Given the description of an element on the screen output the (x, y) to click on. 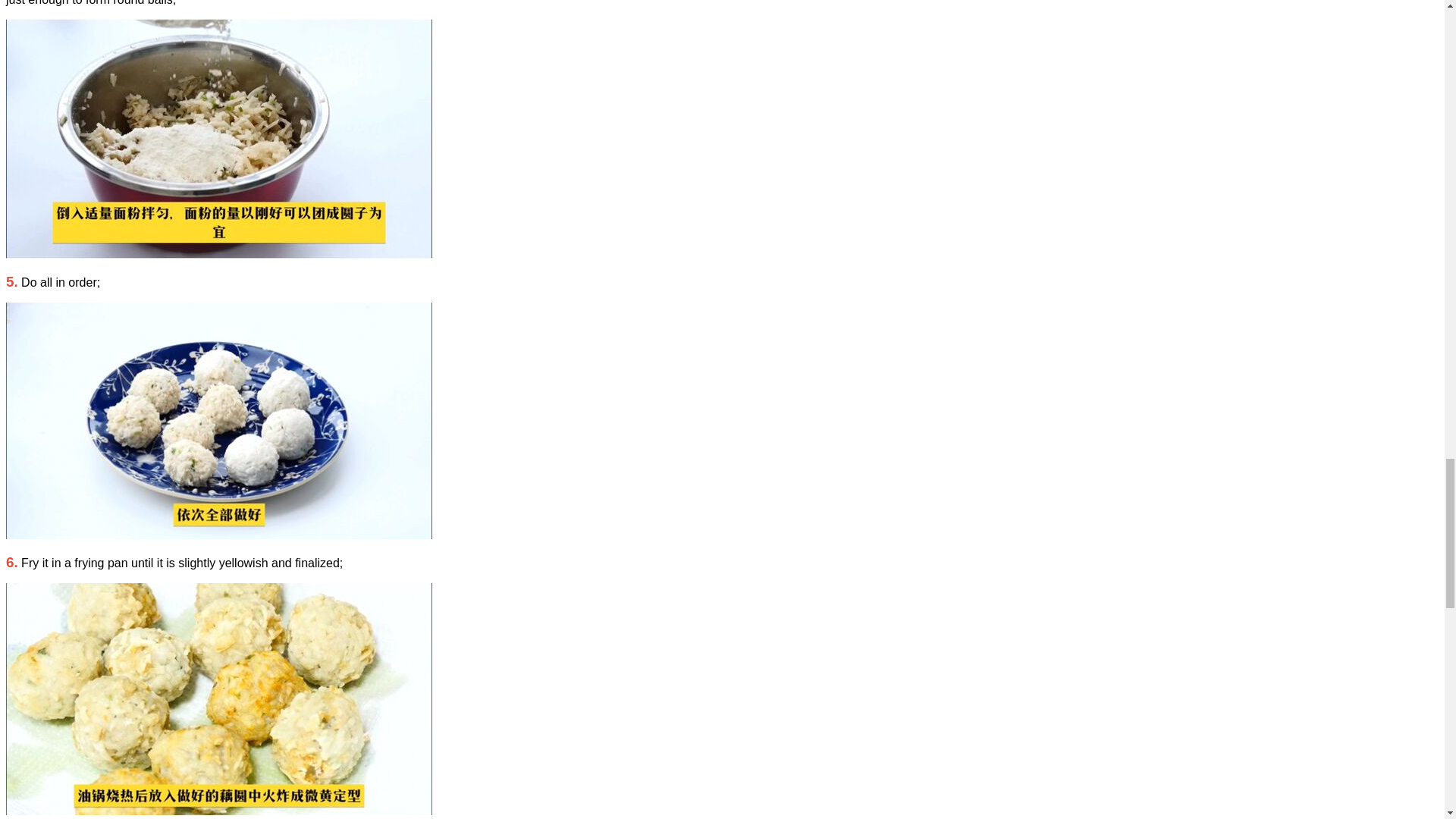
Braised Lotus Root recipe (218, 138)
Braised Lotus Root recipe (218, 420)
Braised Lotus Root recipe (218, 698)
